Given the description of an element on the screen output the (x, y) to click on. 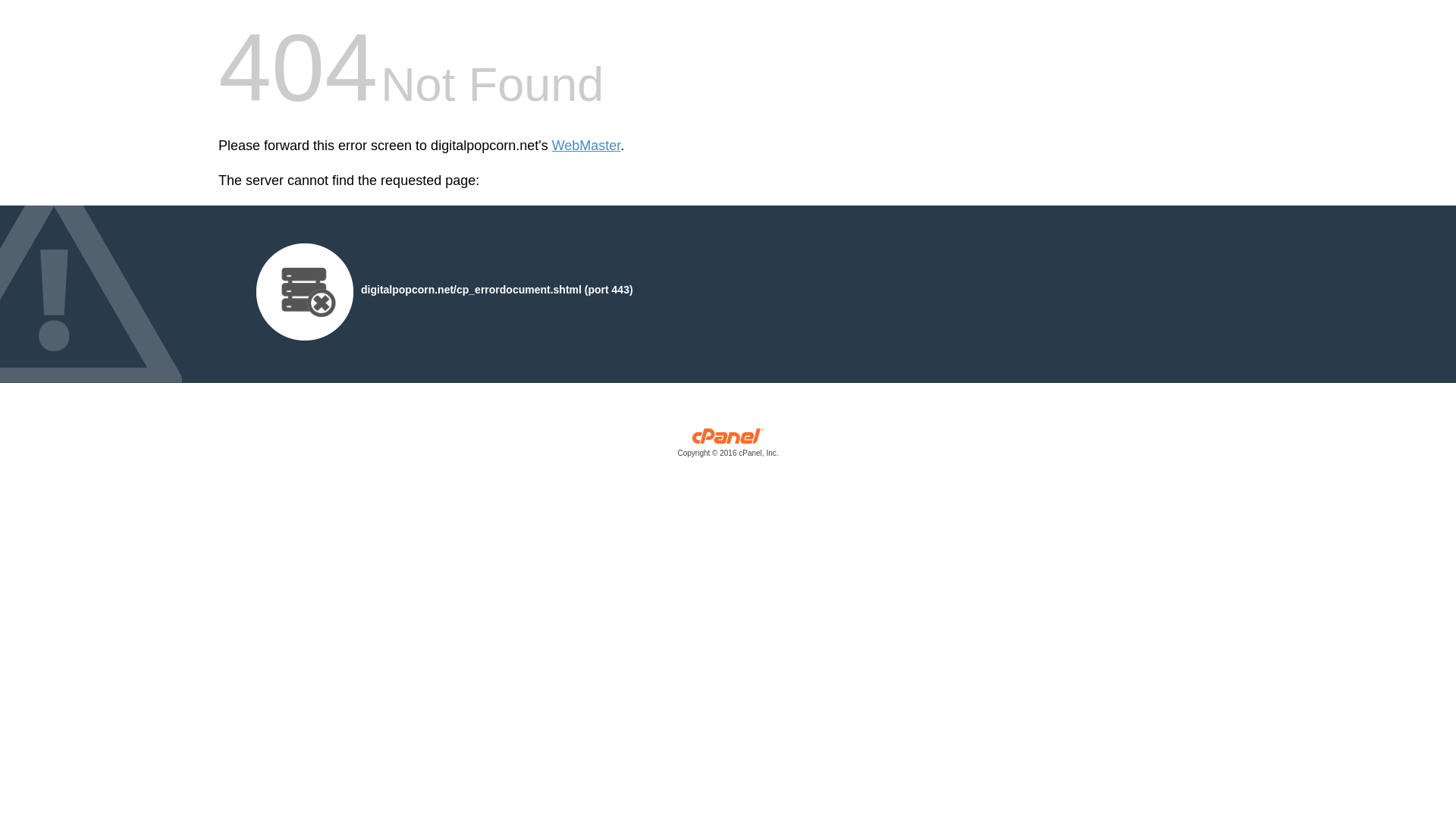
WebMaster (586, 145)
cPanel, Inc. (727, 446)
